Given the description of an element on the screen output the (x, y) to click on. 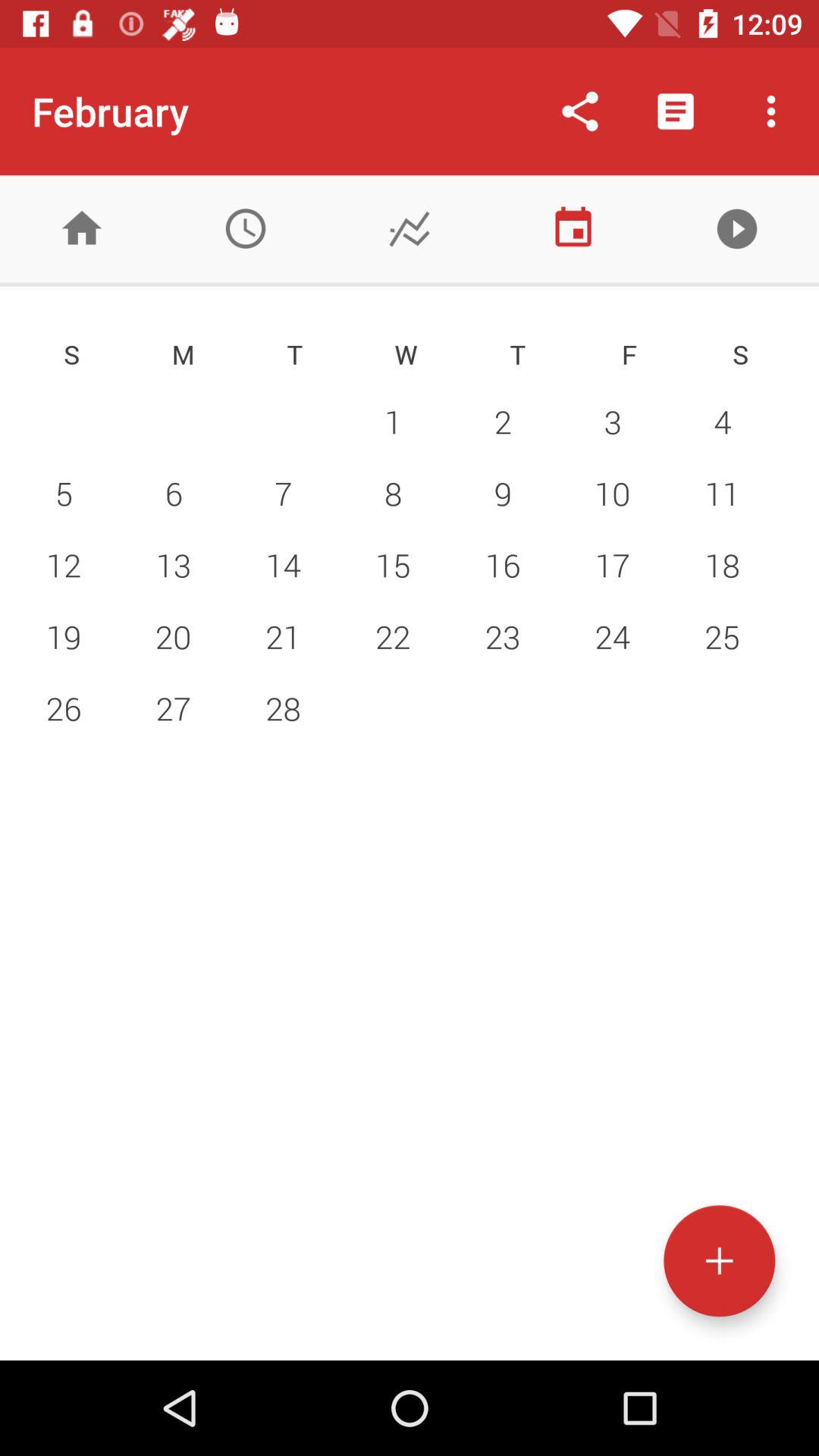
view calendar (573, 228)
